Given the description of an element on the screen output the (x, y) to click on. 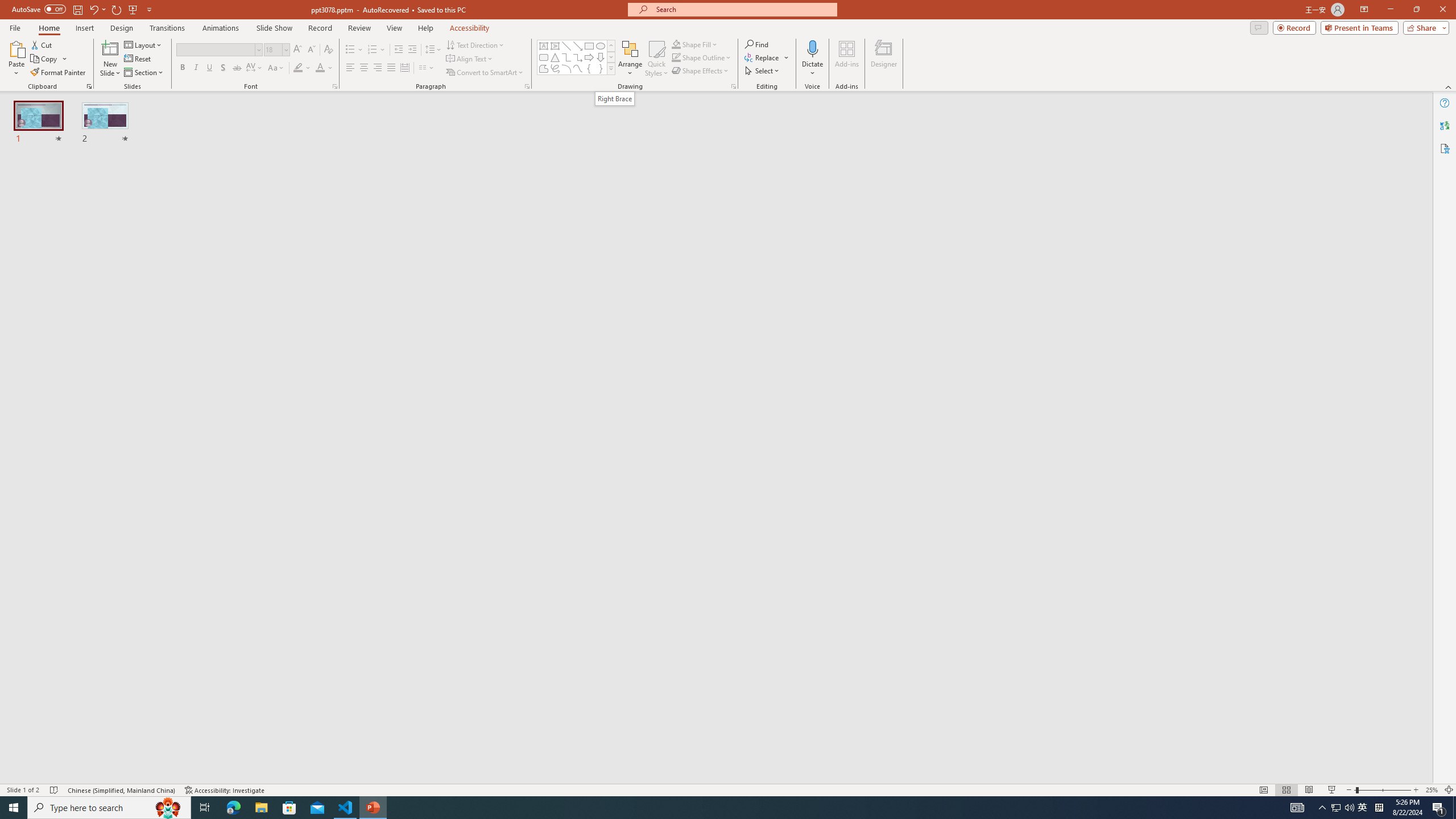
Shape Fill Dark Green, Accent 2 (675, 44)
